Given the description of an element on the screen output the (x, y) to click on. 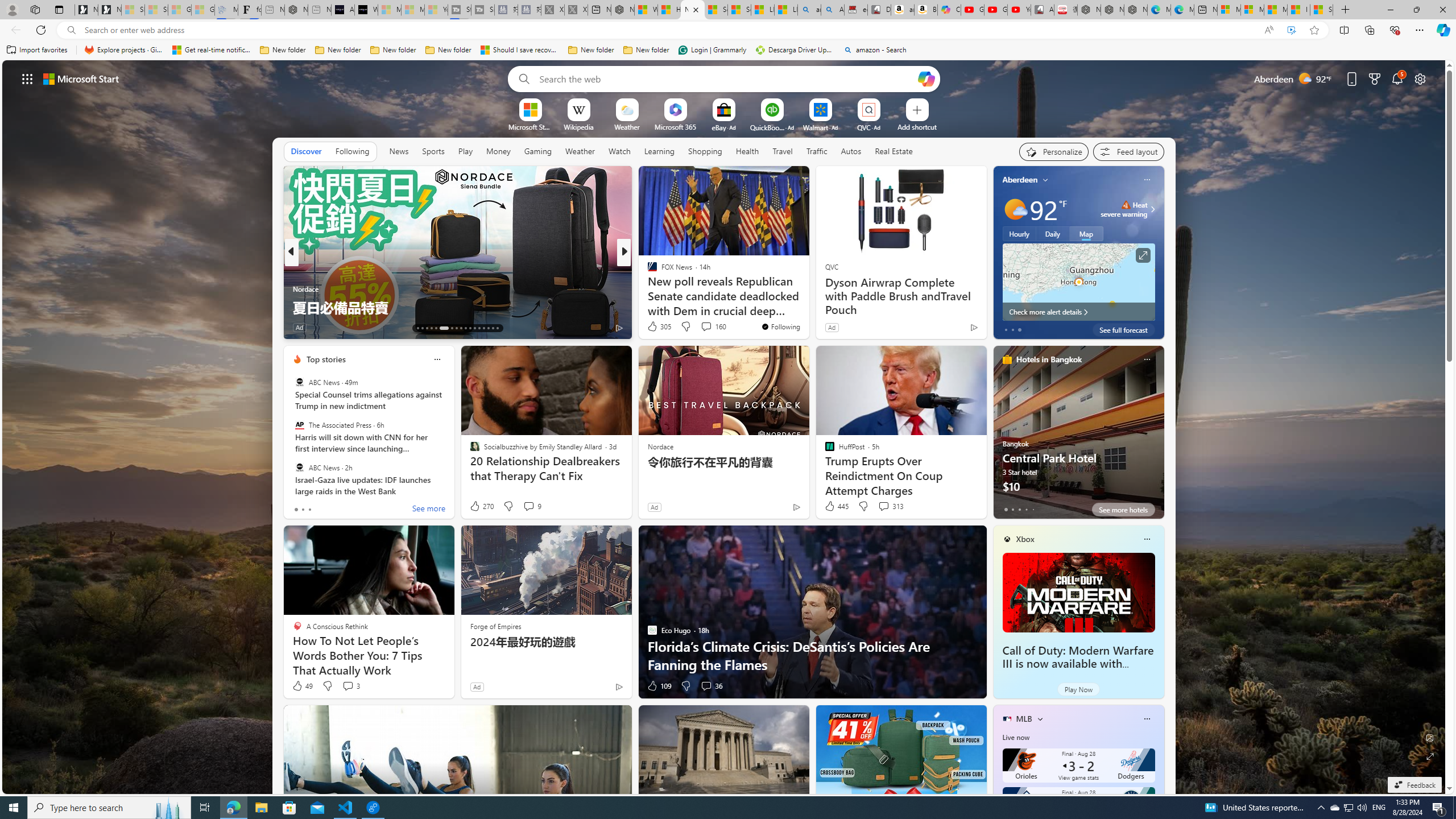
Start the conversation (702, 327)
Check more alert details (1077, 311)
Edit Background (1430, 737)
View comments 107 Comment (709, 327)
Map (1085, 233)
Streaming Coverage | T3 - Sleeping (459, 9)
Hourly (1018, 233)
Dyson Airwrap Complete with Paddle Brush andTravel Pouch (900, 296)
AutomationID: tab-25 (478, 328)
Traffic (816, 151)
More interests (1039, 718)
